Given the description of an element on the screen output the (x, y) to click on. 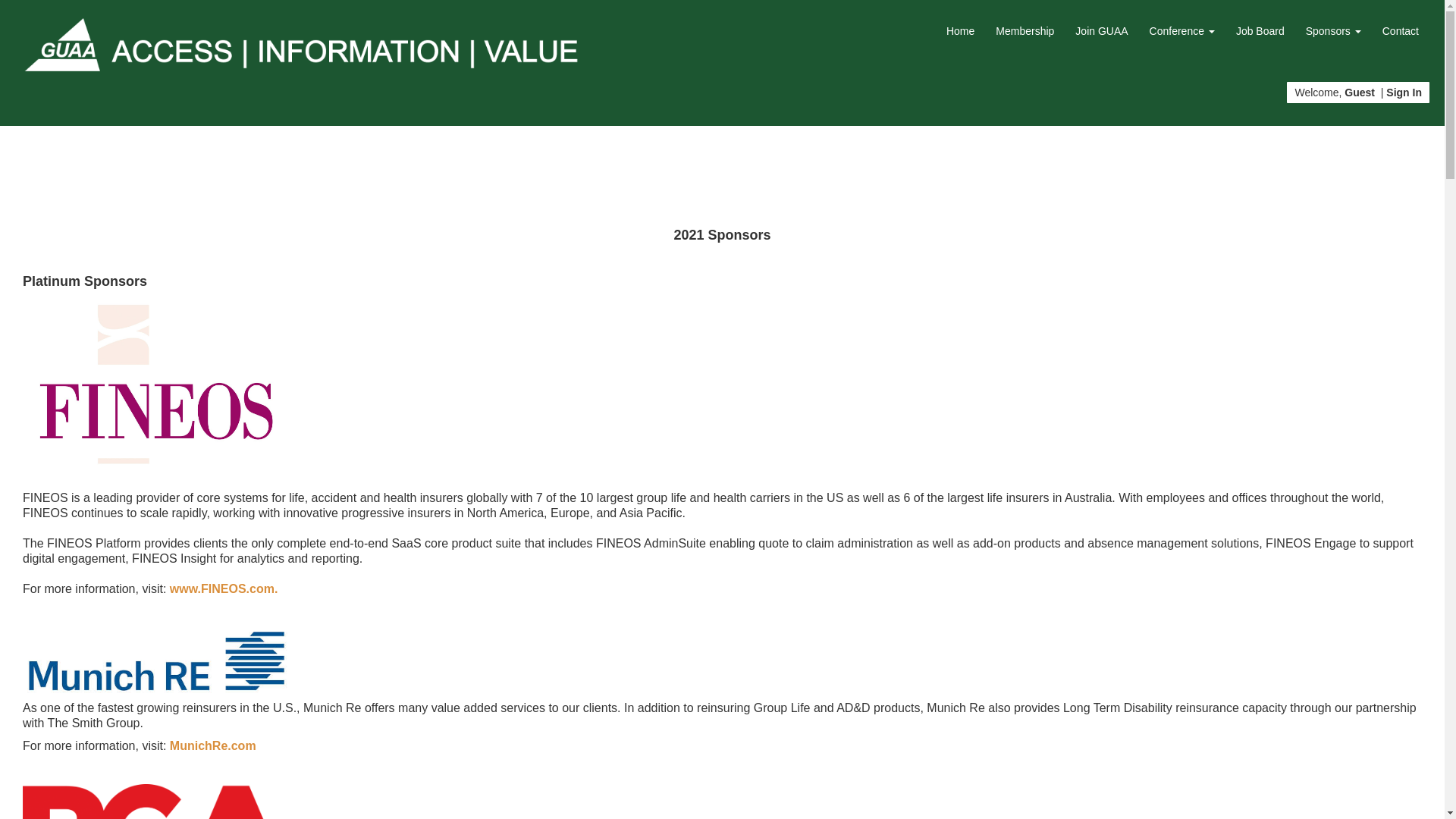
Home (960, 30)
Sign In (1404, 92)
Job Board (1260, 30)
Home (298, 43)
Contact (1400, 30)
MunichRe.com (213, 745)
Sponsors (1333, 30)
Membership (1024, 30)
Contact (1400, 30)
Conference (1181, 30)
www.FINEOS.com.  (225, 588)
Conference (1181, 30)
Join GUAA (1101, 30)
Sponsors (1333, 30)
Home (960, 30)
